Given the description of an element on the screen output the (x, y) to click on. 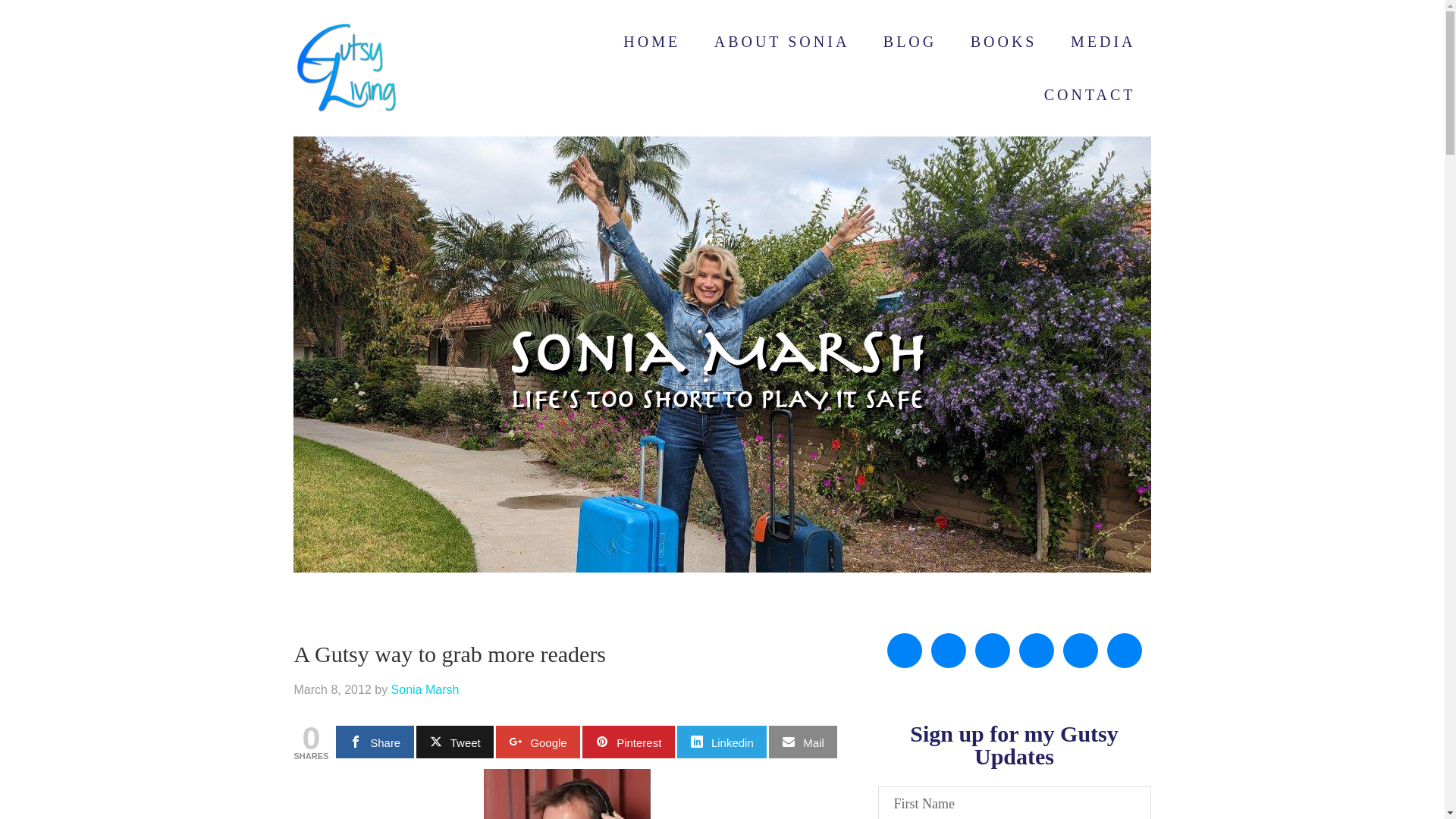
Pinterest (628, 741)
ABOUT SONIA (781, 41)
BLOG (909, 41)
Google (537, 741)
Share (374, 741)
Sonia Marsh - Gutsy Living (415, 67)
BOOKS (1003, 41)
CONTACT (1090, 94)
Dave the podcast guy (566, 794)
Sonia Marsh (425, 689)
Tweet (455, 741)
HOME (651, 41)
Mail (802, 741)
MEDIA (1103, 41)
Linkedin (722, 741)
